Given the description of an element on the screen output the (x, y) to click on. 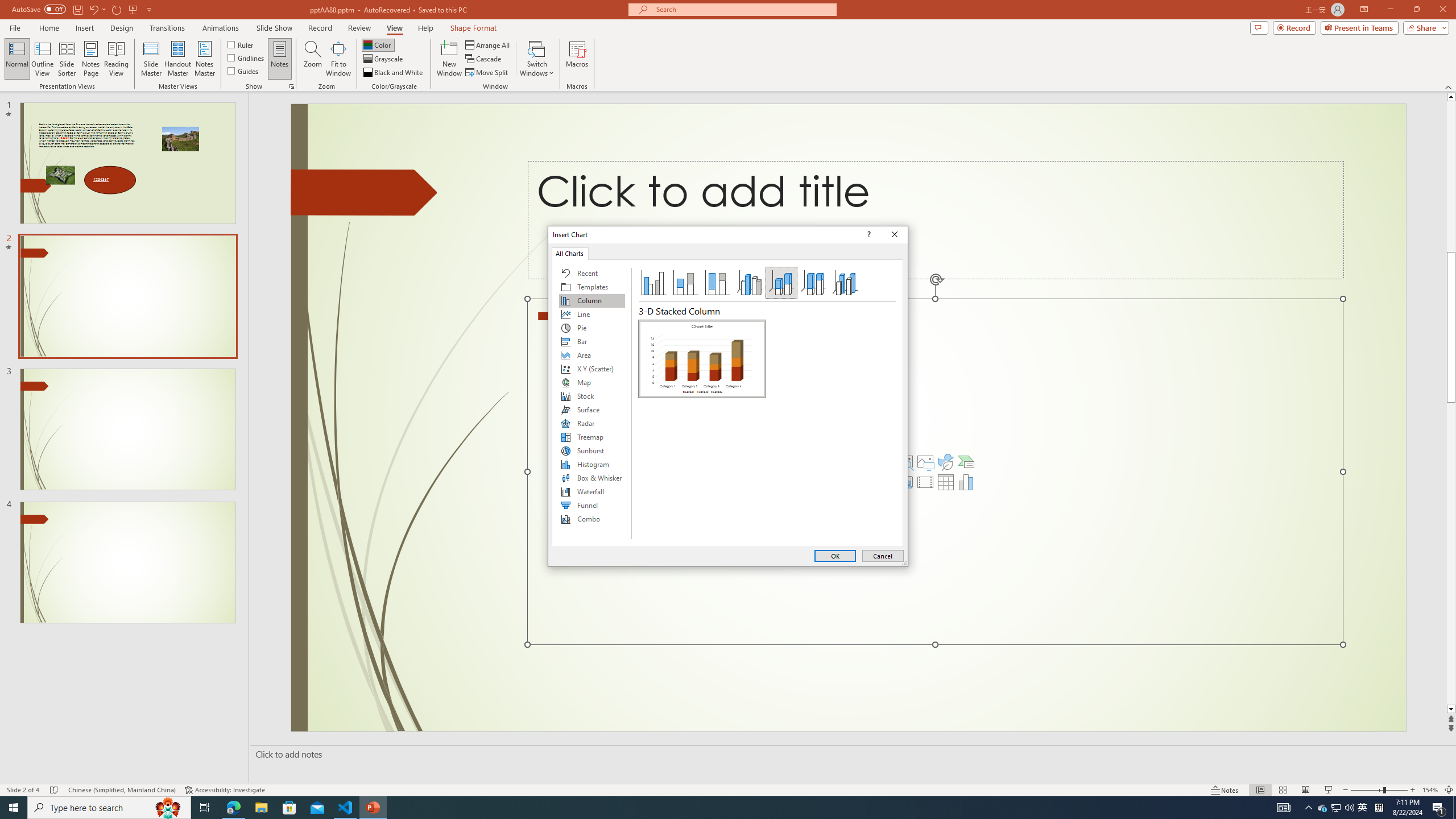
Surface (591, 409)
Treemap (591, 436)
All Charts (569, 253)
Cascade (484, 58)
Black and White (393, 72)
X Y (Scatter) (591, 368)
